Given the description of an element on the screen output the (x, y) to click on. 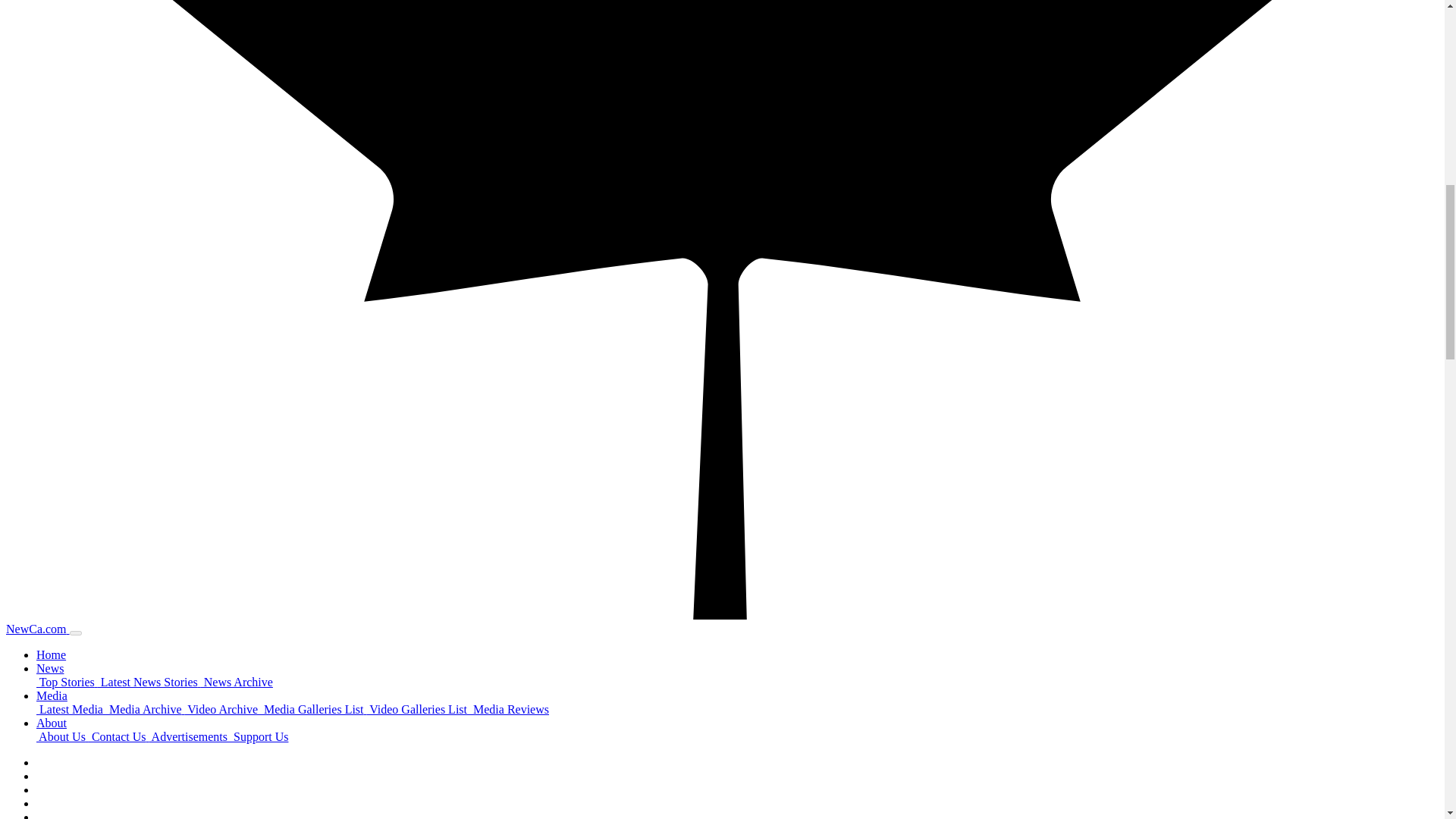
Home (50, 654)
 Media Galleries List (313, 708)
 Media Archive (145, 708)
 About Us (62, 736)
 Media Reviews (509, 708)
News (50, 667)
 Latest Media (71, 708)
 Top Stories (66, 681)
About (51, 722)
Media (51, 695)
 Support Us (259, 736)
 News Archive (236, 681)
 Contact Us (118, 736)
 Latest News Stories (148, 681)
 Video Archive (223, 708)
